Given the description of an element on the screen output the (x, y) to click on. 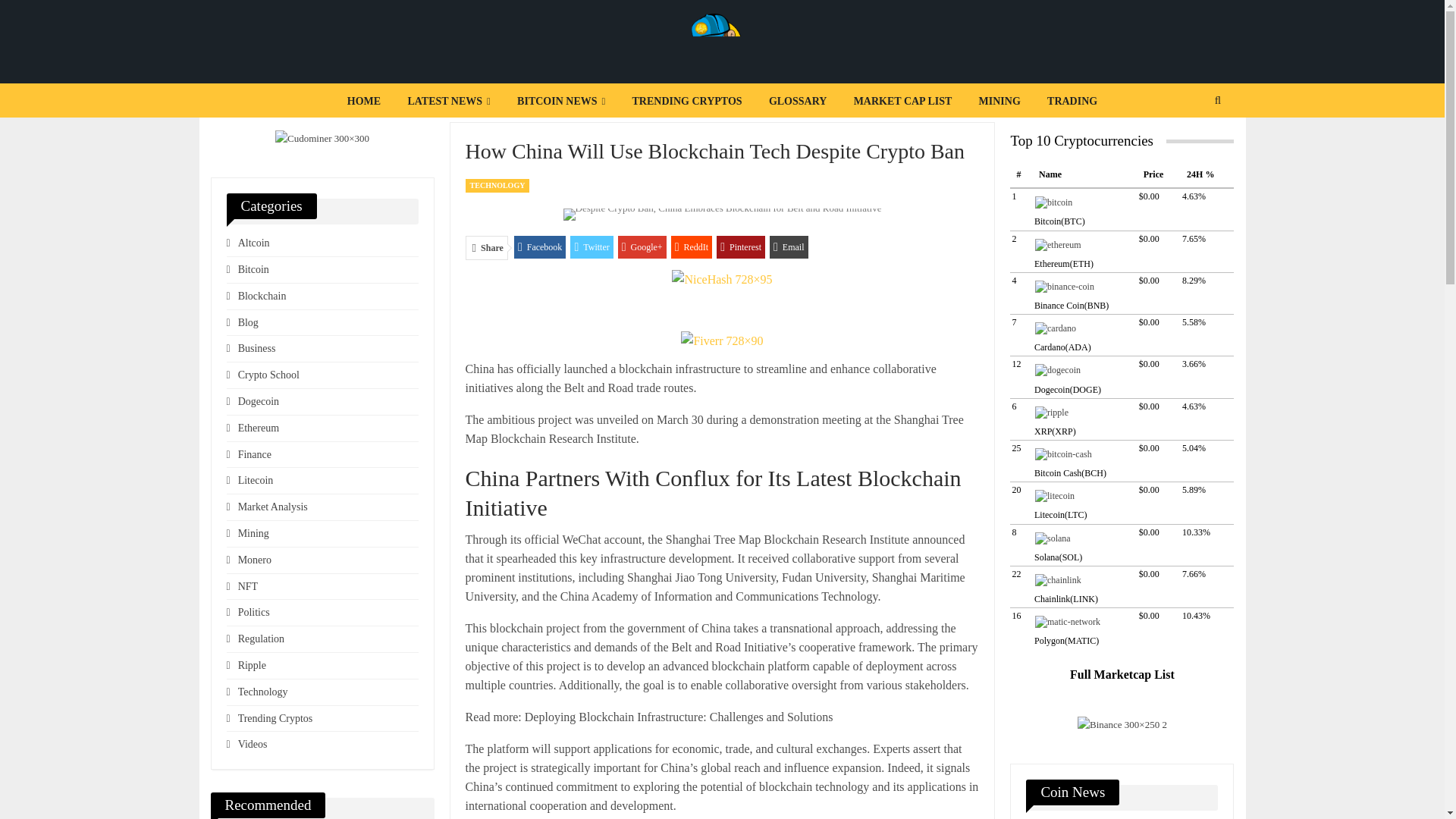
BITCOIN NEWS (561, 101)
HOME (363, 101)
LATEST NEWS (448, 101)
